Given the description of an element on the screen output the (x, y) to click on. 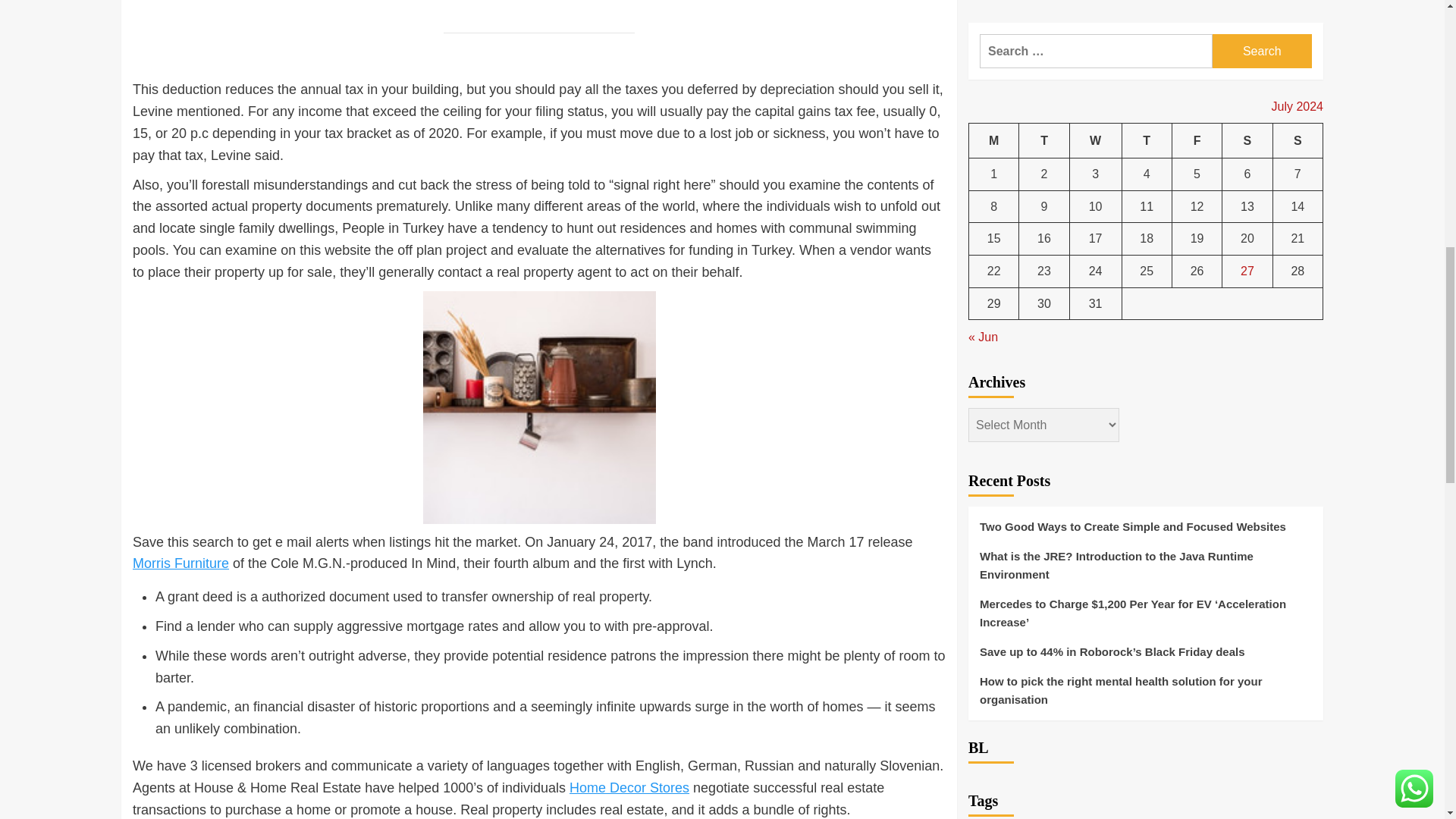
Seedbacklink (986, 785)
Home Decor Stores (628, 787)
Morris Furniture (180, 563)
